Given the description of an element on the screen output the (x, y) to click on. 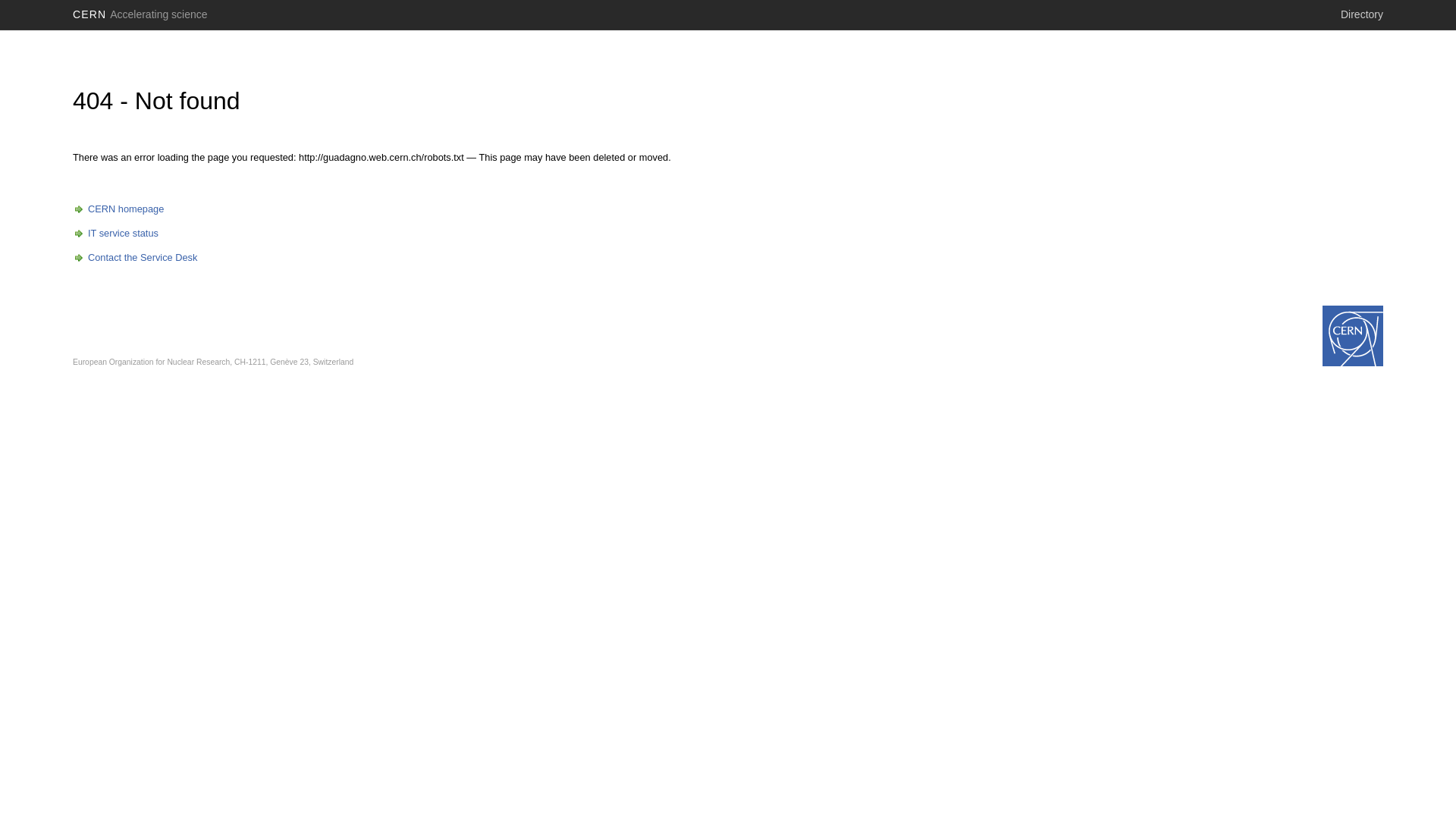
CERN homepage Element type: text (117, 208)
www.cern.ch Element type: hover (1352, 335)
CERN Accelerating science Element type: text (139, 14)
Contact the Service Desk Element type: text (134, 257)
IT service status Element type: text (115, 232)
Directory Element type: text (1361, 14)
